Given the description of an element on the screen output the (x, y) to click on. 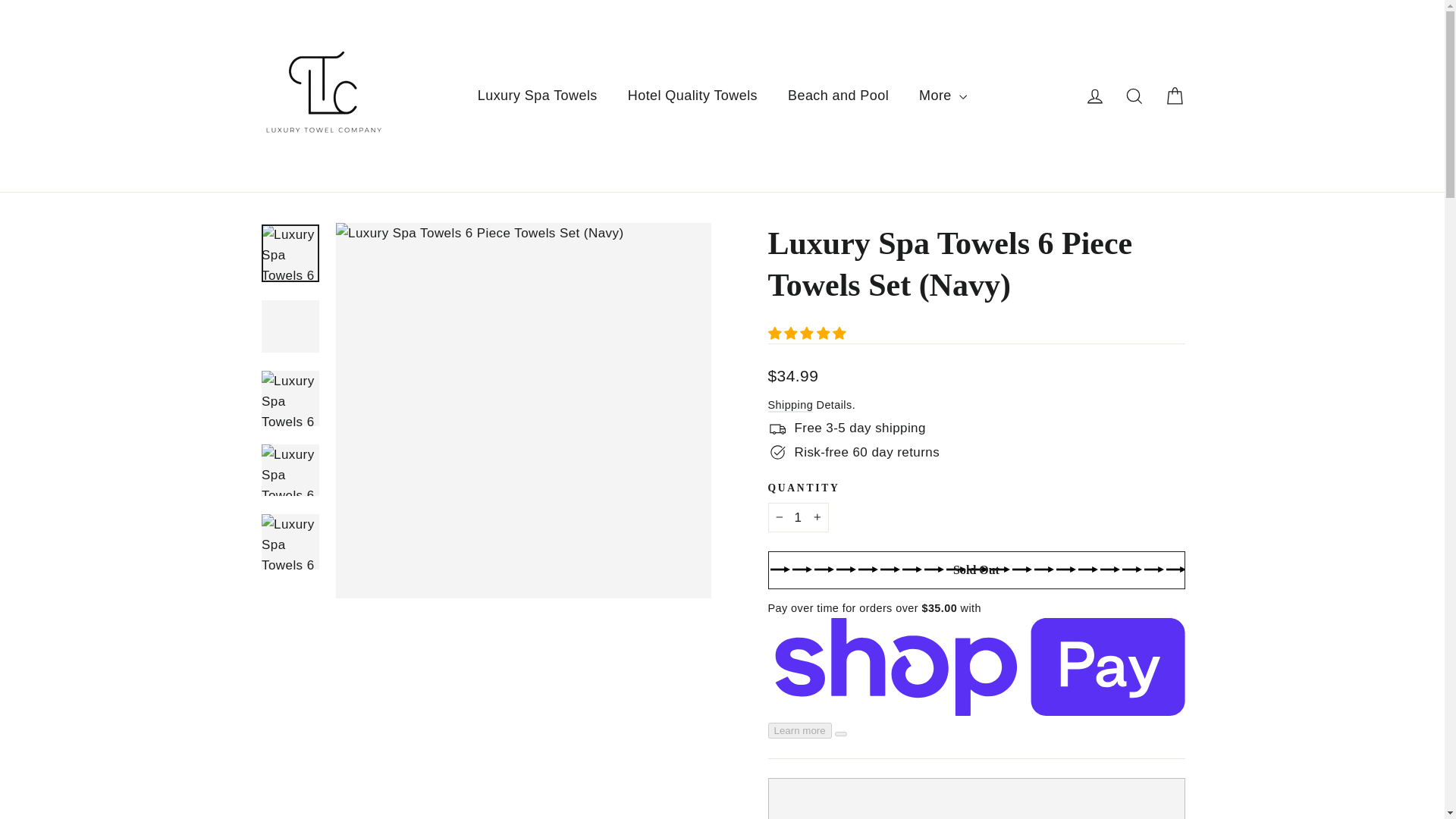
More (942, 95)
1 (797, 517)
Beach and Pool (838, 95)
Luxury Spa Towels (537, 95)
Shipping (789, 405)
Cart (1173, 95)
Hotel Quality Towels (692, 95)
Search (1134, 95)
Log in (1095, 95)
